Given the description of an element on the screen output the (x, y) to click on. 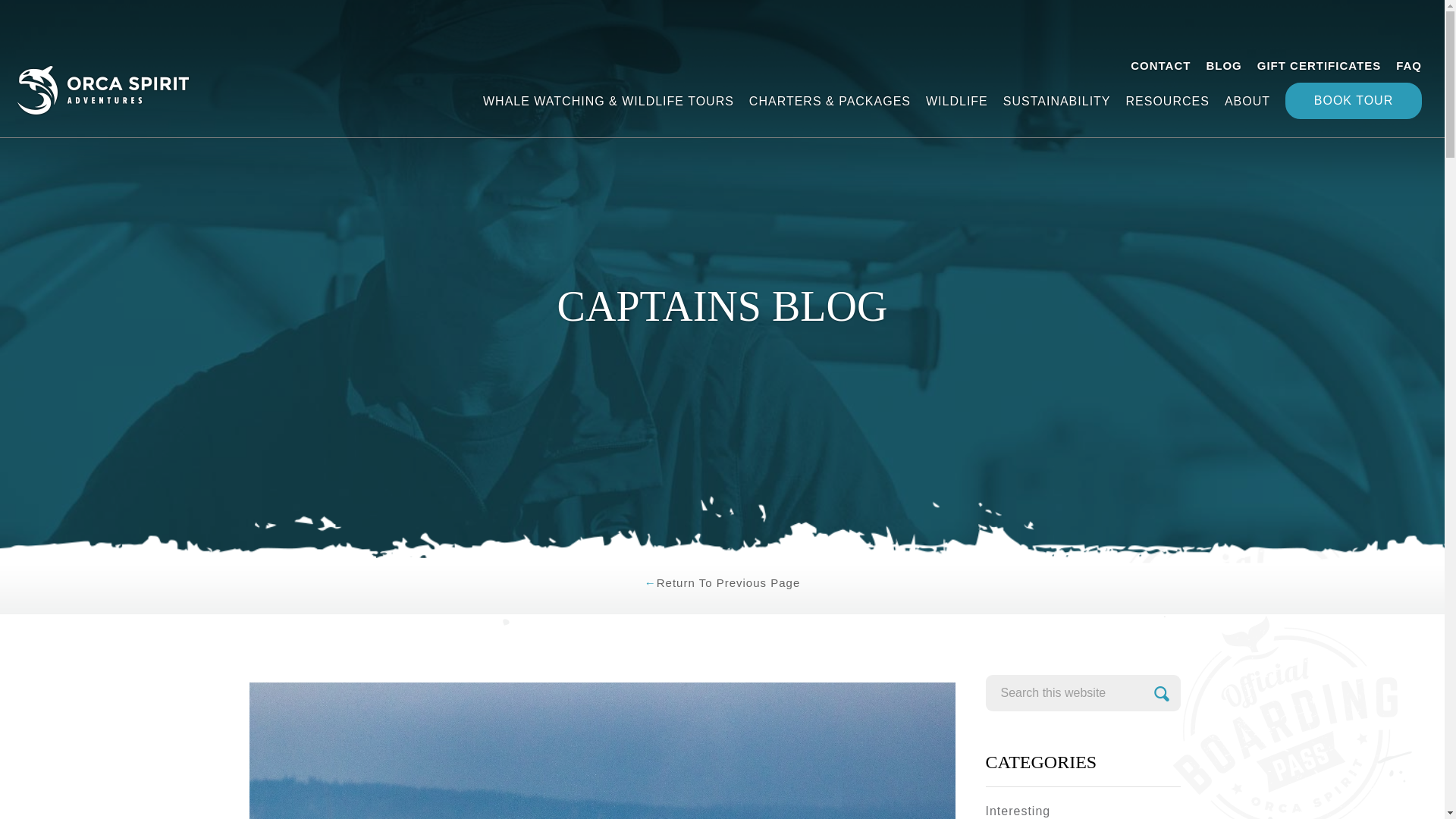
Search (1161, 693)
Search (1161, 693)
